Given the description of an element on the screen output the (x, y) to click on. 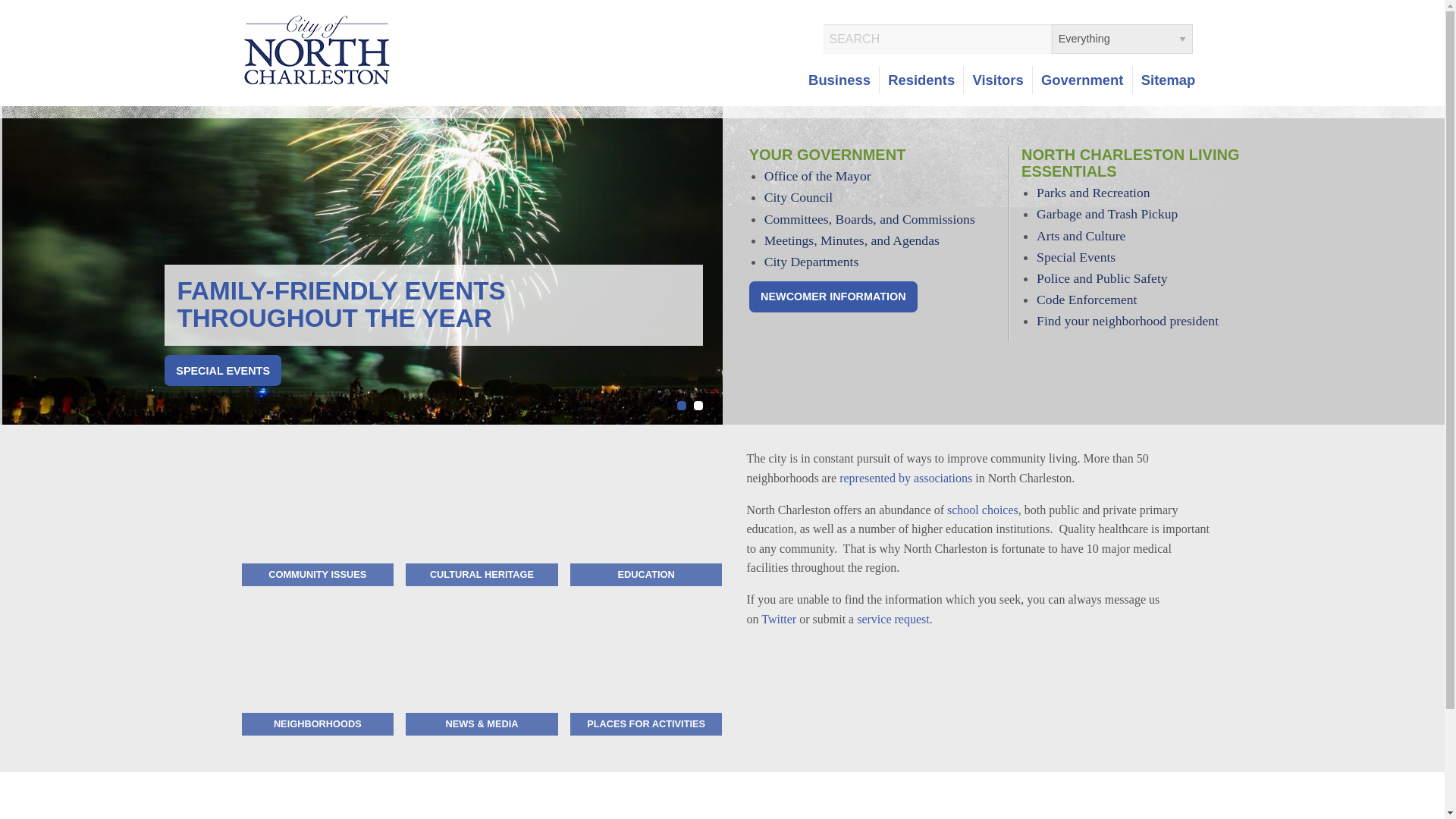
service request (893, 618)
Business (839, 80)
Residents (921, 80)
